Given the description of an element on the screen output the (x, y) to click on. 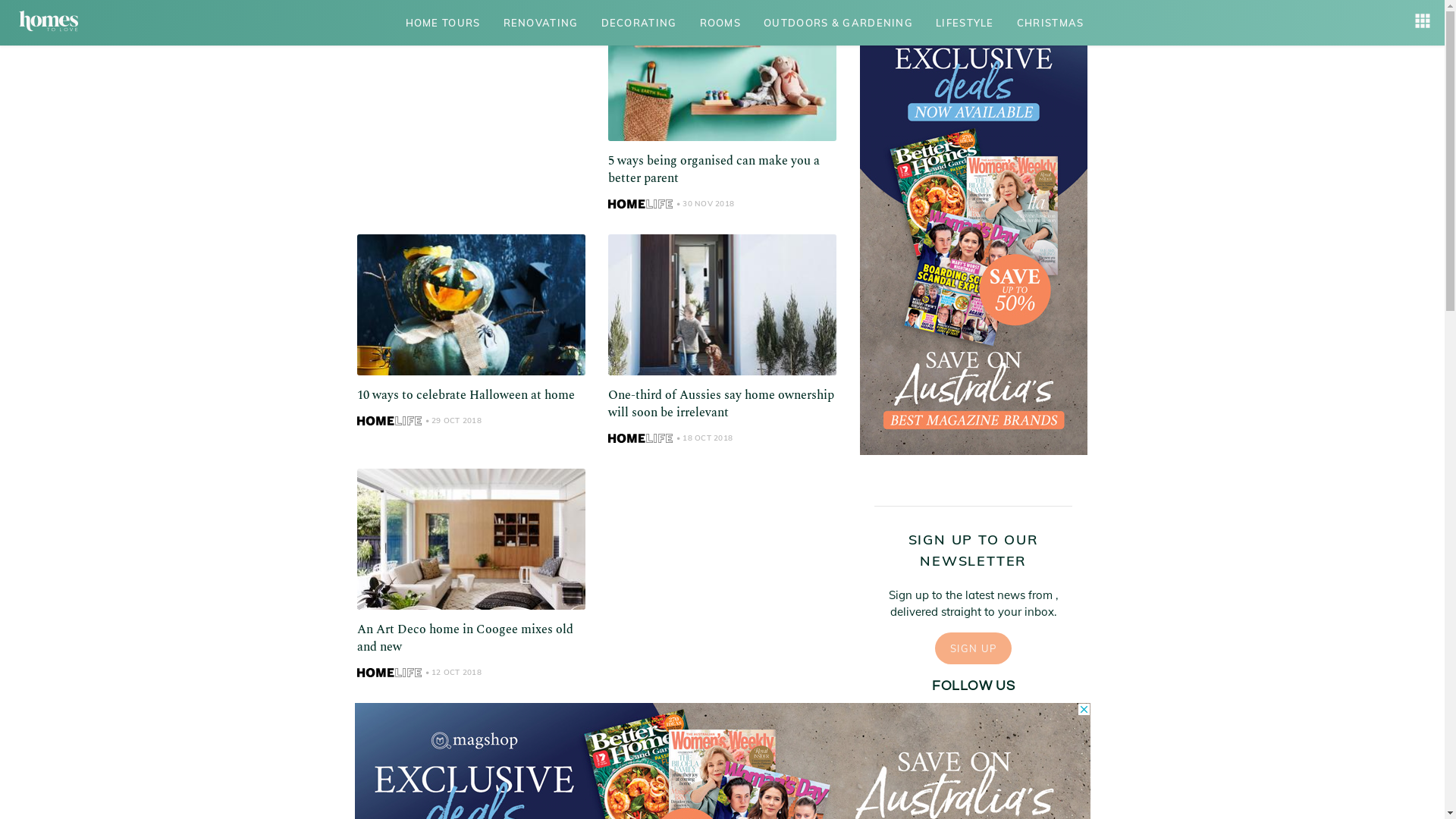
An Art Deco home in Coogee mixes old and new Element type: text (464, 637)
3rd party ad content Element type: hover (973, 227)
10 ways to celebrate Halloween at home Element type: text (465, 394)
SIGN UP Element type: text (973, 648)
5 ways being organised can make you a better parent Element type: text (713, 169)
